Given the description of an element on the screen output the (x, y) to click on. 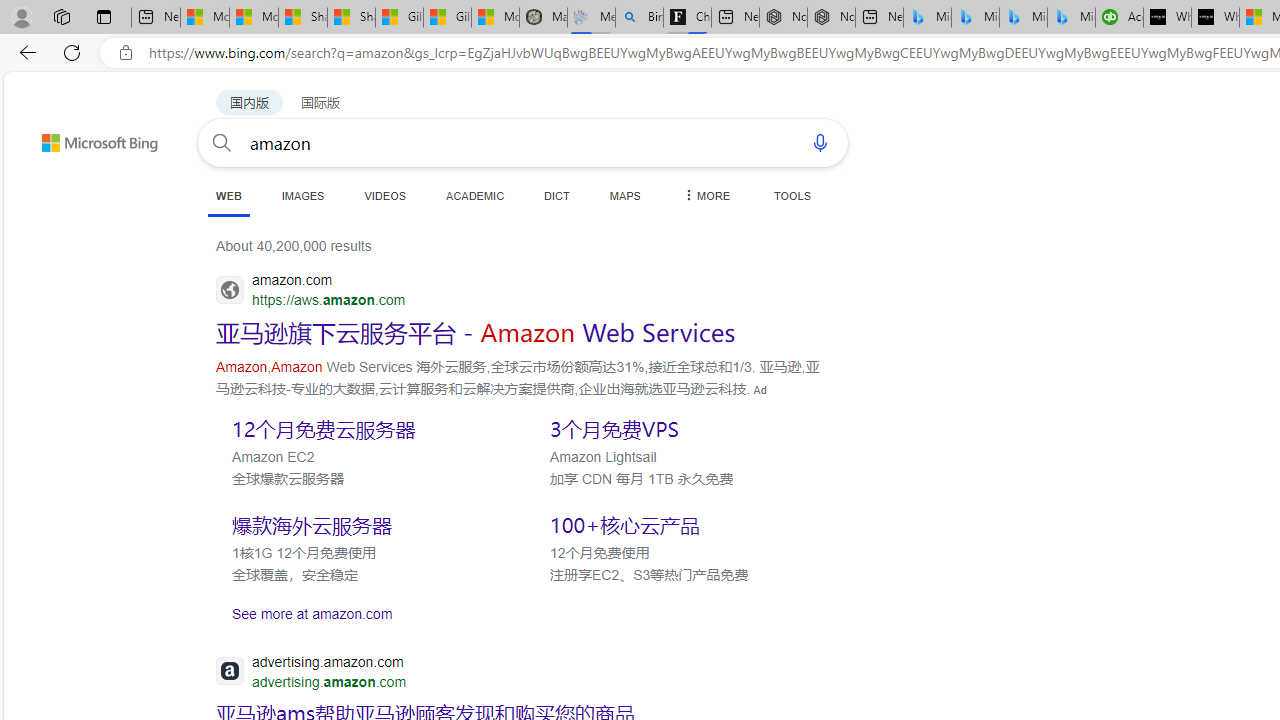
TOOLS (792, 195)
Chloe Sorvino (687, 17)
Bing Real Estate - Home sales and rental listings (639, 17)
MAPS (624, 195)
Search using voice (820, 142)
ACADEMIC (475, 195)
SERP,5553 (683, 525)
VIDEOS (384, 195)
SERP,5552 (365, 525)
VIDEOS (384, 195)
